Given the description of an element on the screen output the (x, y) to click on. 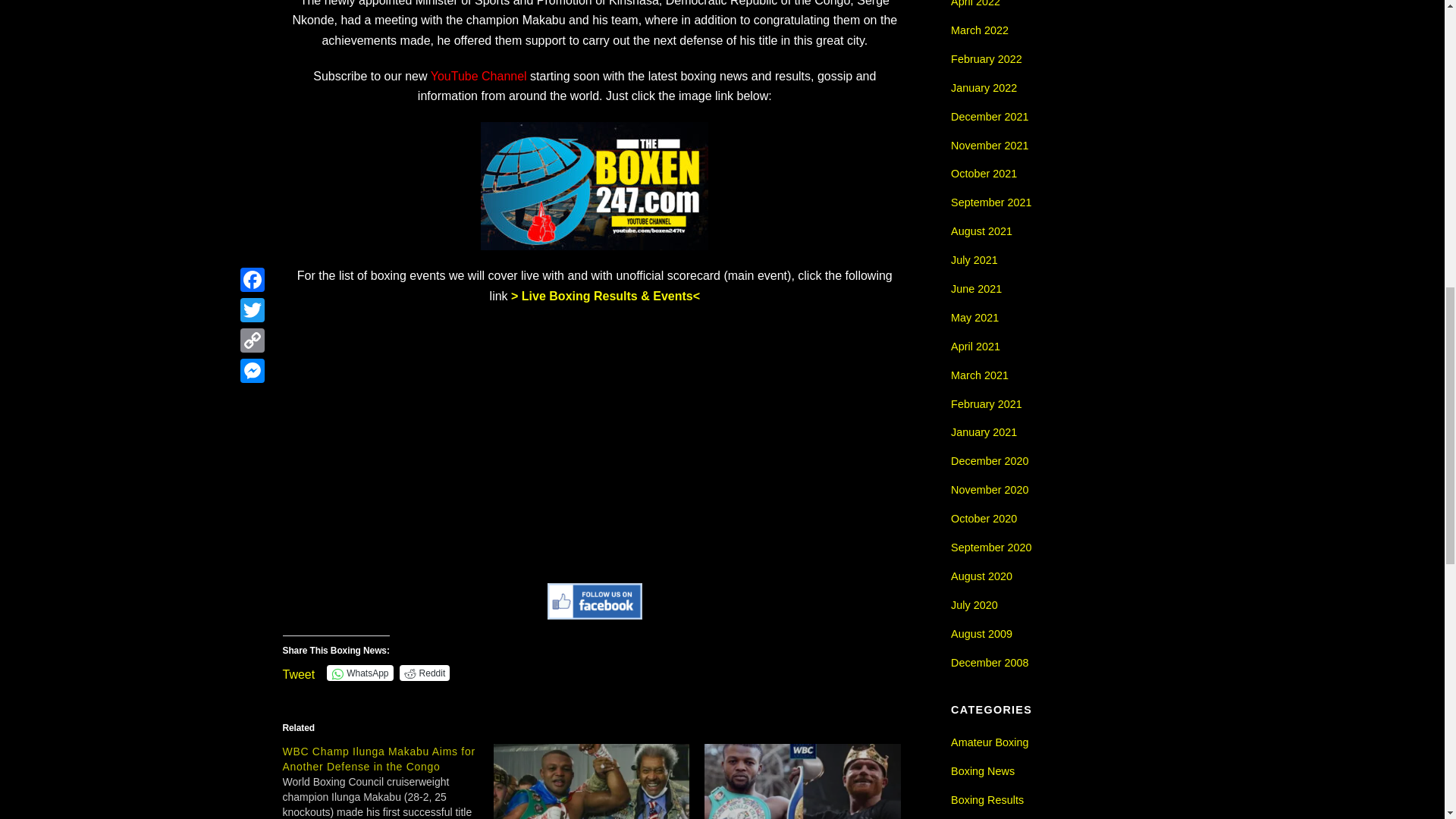
Click to share on Reddit (423, 672)
YouTube video player (593, 441)
Click to share on WhatsApp (359, 672)
